Given the description of an element on the screen output the (x, y) to click on. 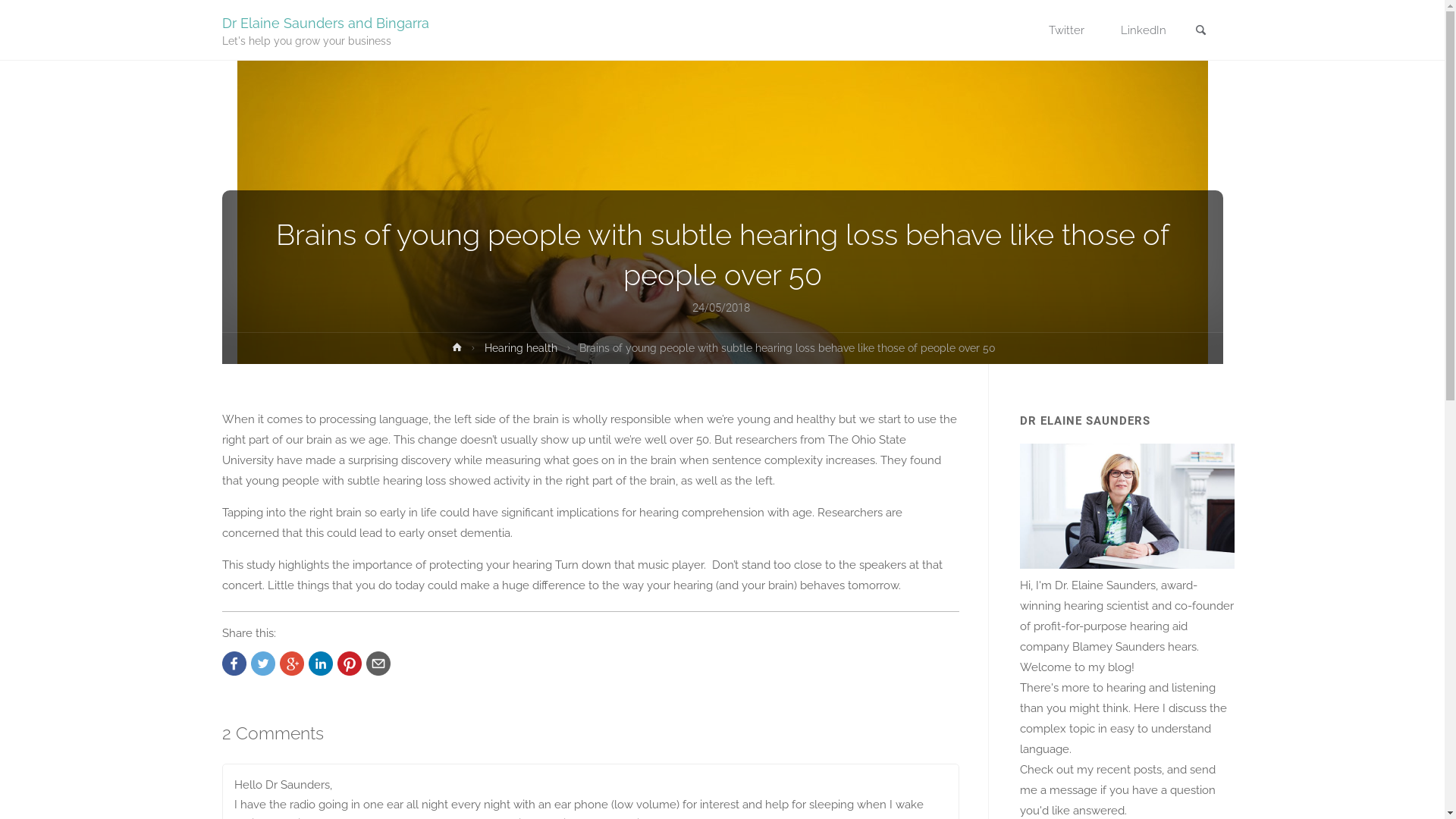
Dr Elaine Saunders and Bingarra Element type: text (324, 23)
Click to share by Email Element type: hover (377, 663)
Home Element type: hover (456, 350)
Click to share on Pinterest Element type: hover (348, 663)
Hearing health Element type: text (520, 350)
Click to share on Twitter Element type: hover (262, 663)
LinkedIn Element type: text (1143, 30)
Click to share on Google Element type: hover (291, 663)
Twitter Element type: text (1065, 30)
Click to share on Facebook Element type: hover (233, 663)
Click to share on LinkedIn Element type: hover (319, 663)
